Given the description of an element on the screen output the (x, y) to click on. 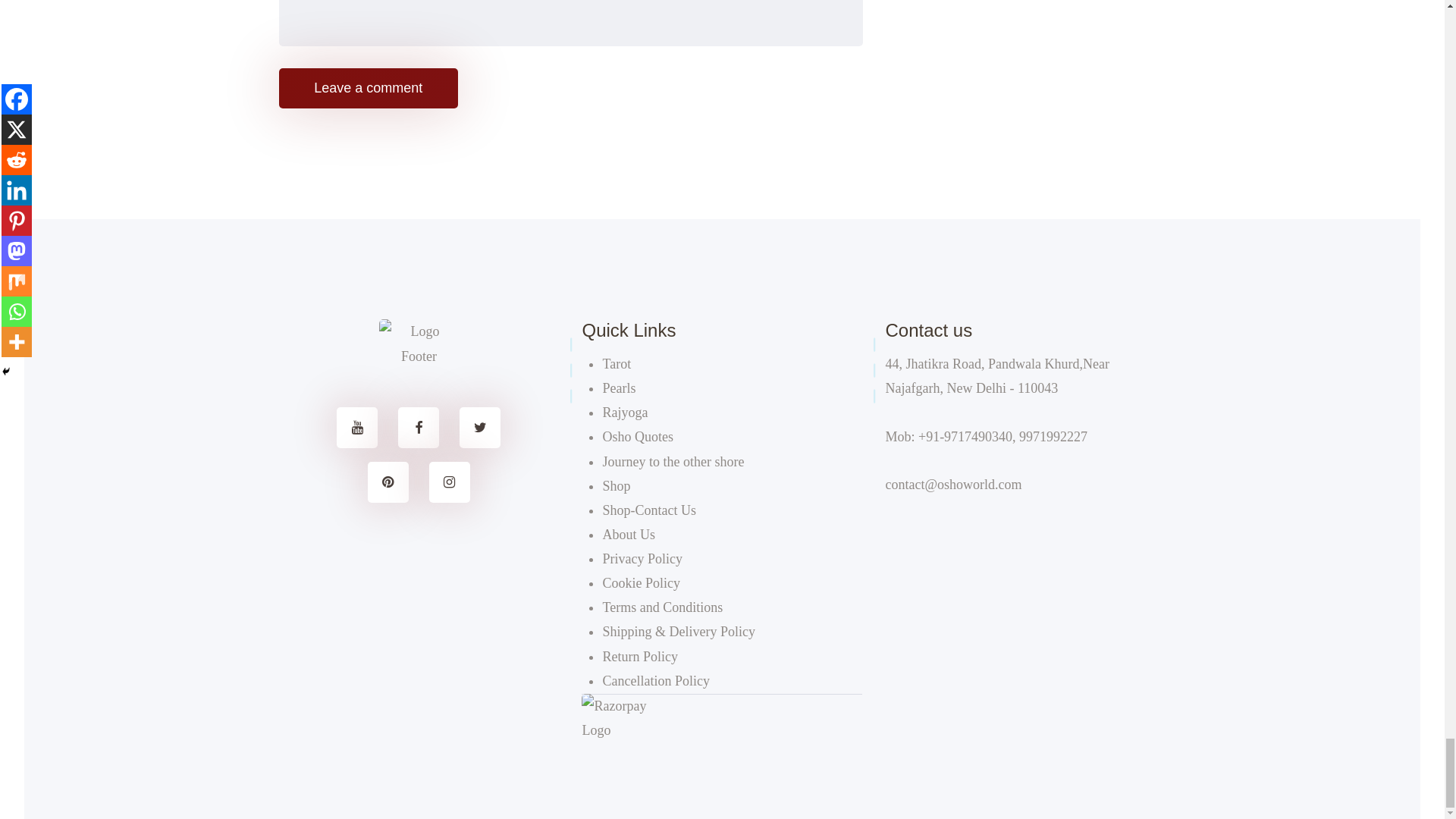
Leave a comment (368, 87)
